Given the description of an element on the screen output the (x, y) to click on. 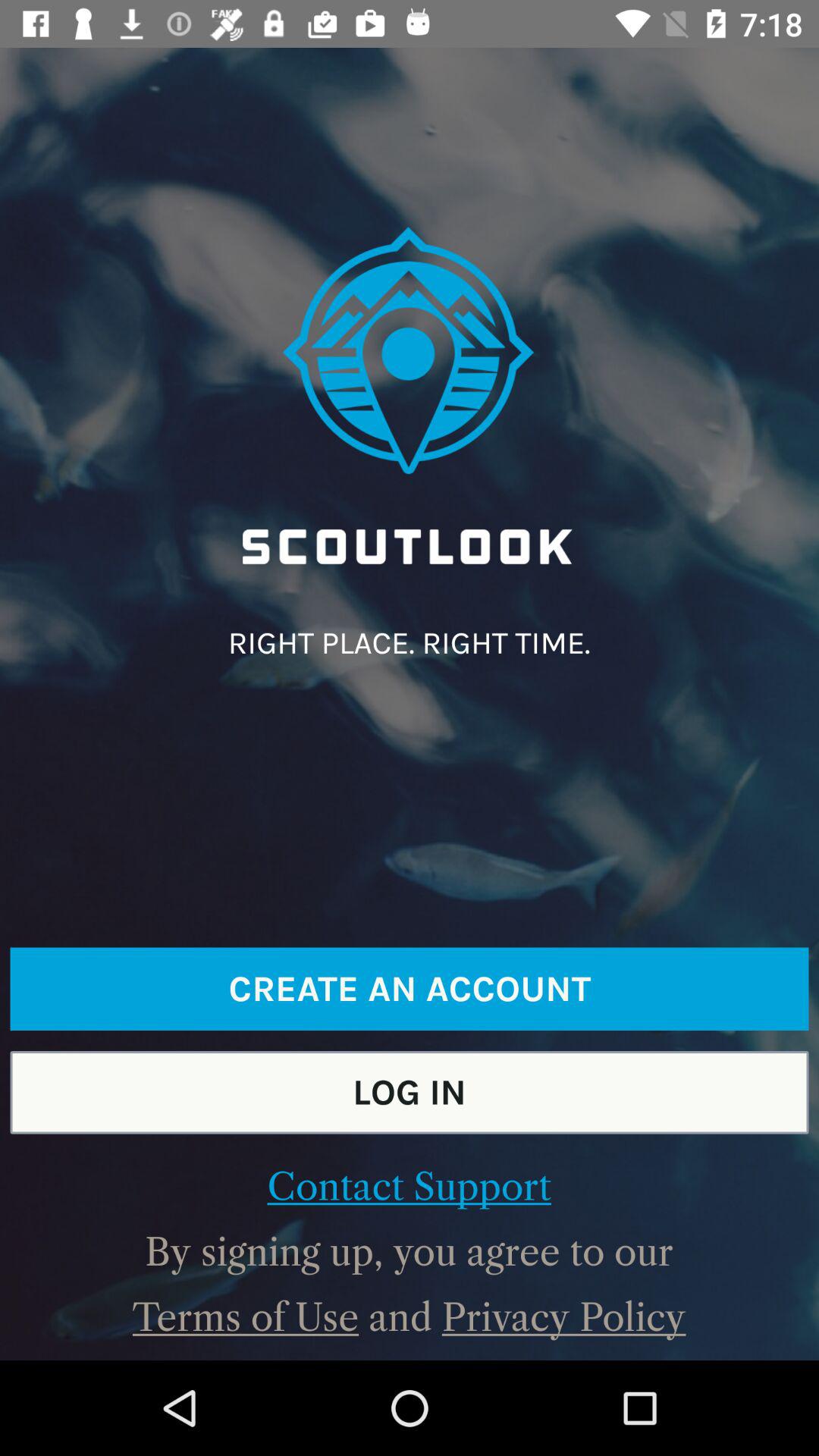
select icon next to  and  item (245, 1317)
